Given the description of an element on the screen output the (x, y) to click on. 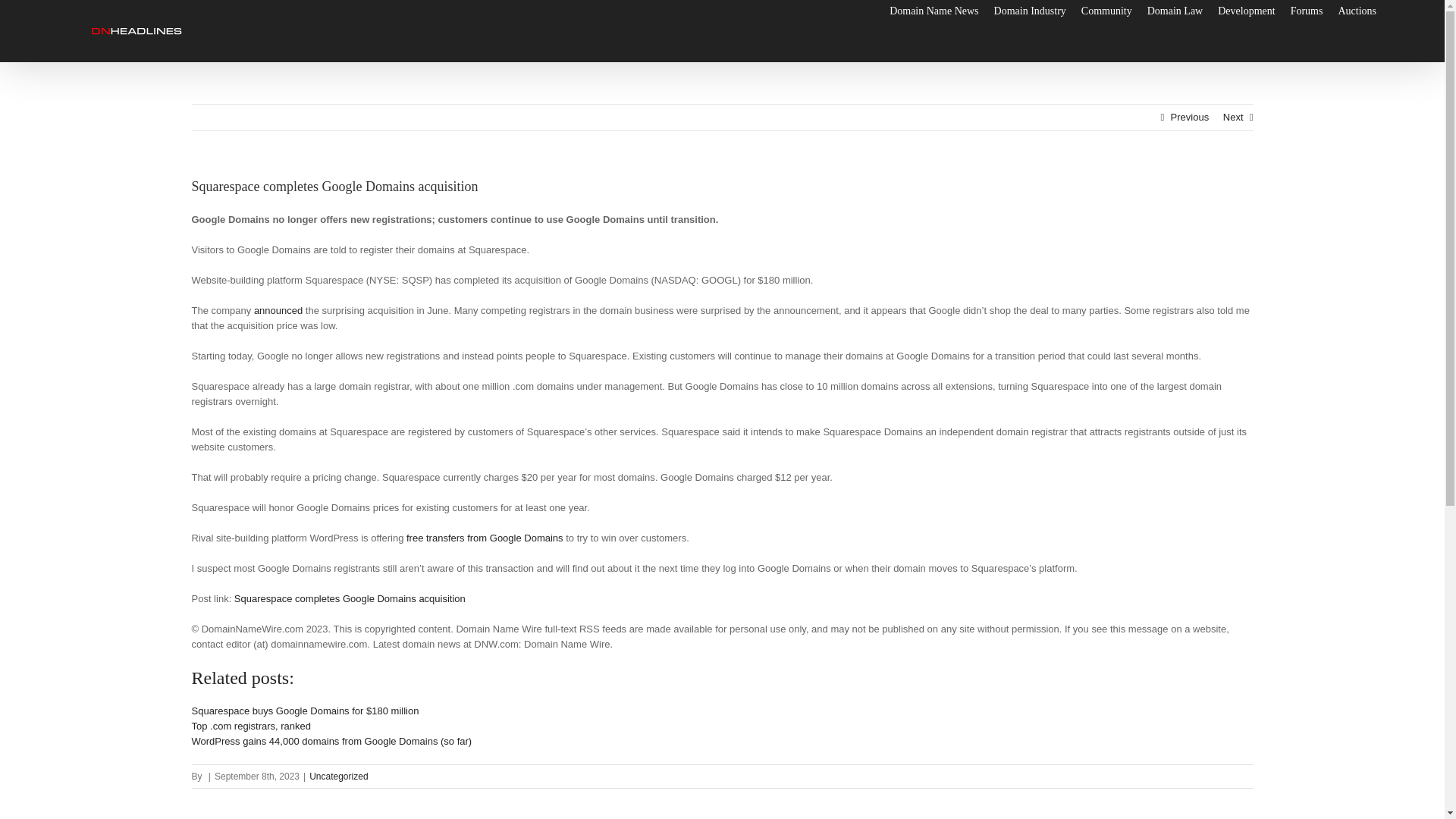
Community (1106, 11)
Uncategorized (338, 776)
Development (1246, 11)
Domain Industry (1029, 11)
Top .com registrars, ranked (250, 726)
Domain Law (1174, 11)
Top .com registrars, ranked (250, 726)
announced (277, 310)
Squarespace completes Google Domains acquisition (349, 598)
Previous (1189, 117)
Forums (1306, 11)
Auctions (1356, 11)
Domain Name News (933, 11)
free transfers from Google Domains (484, 537)
